Given the description of an element on the screen output the (x, y) to click on. 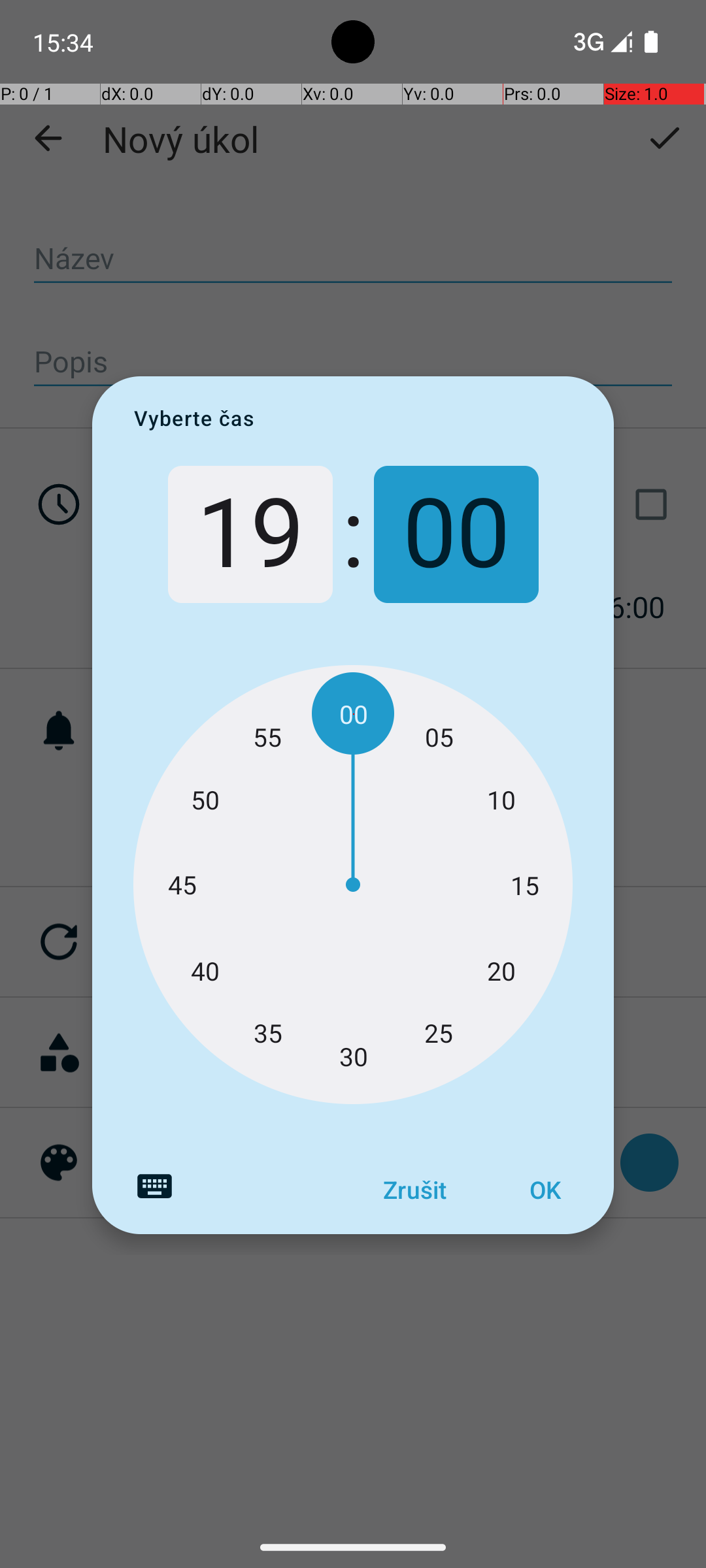
Chcete-li zadat čas, přepněte na režim textu. Element type: android.widget.Button (154, 1186)
